Given the description of an element on the screen output the (x, y) to click on. 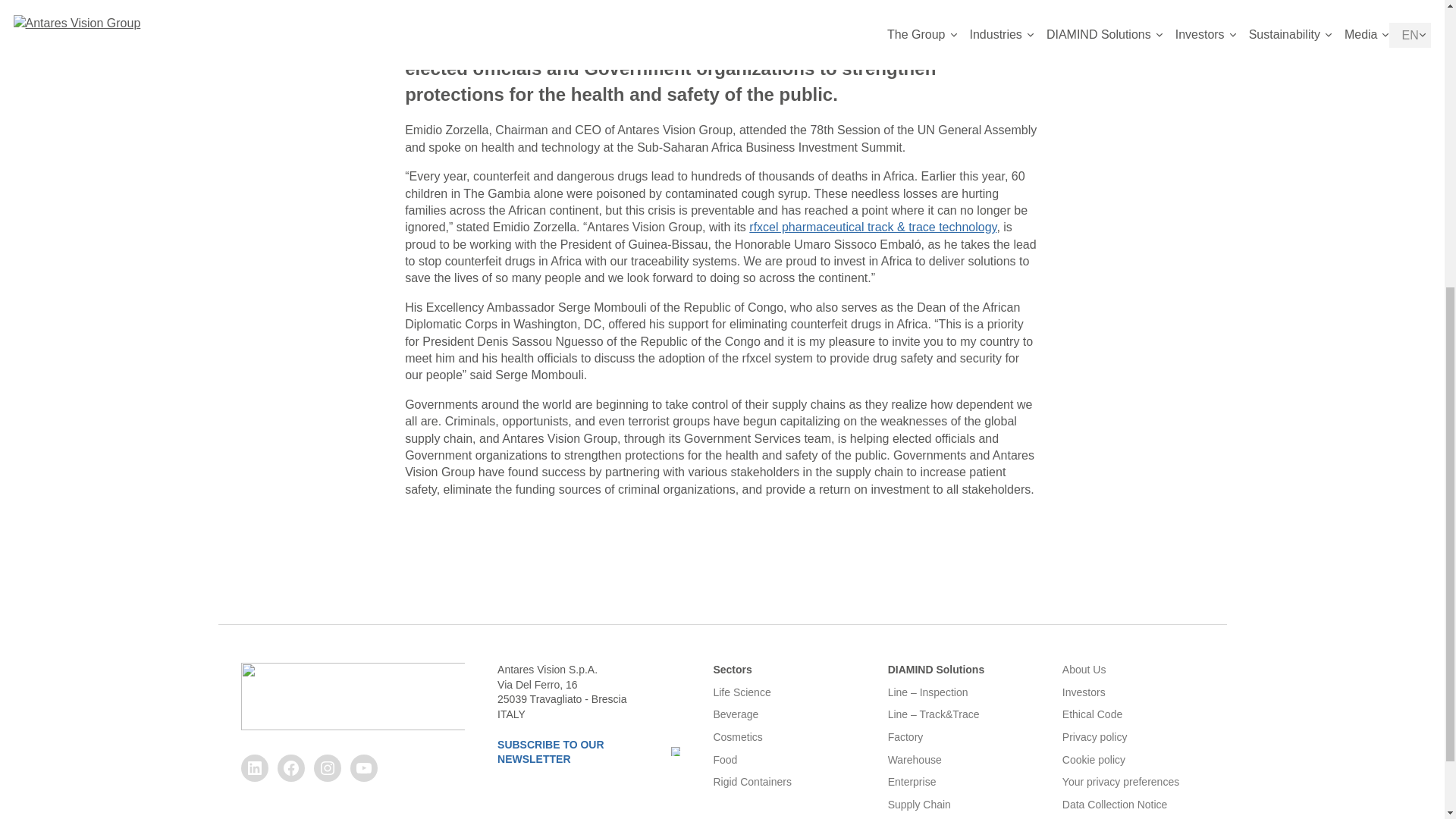
Antares Vision Group (352, 696)
